Given the description of an element on the screen output the (x, y) to click on. 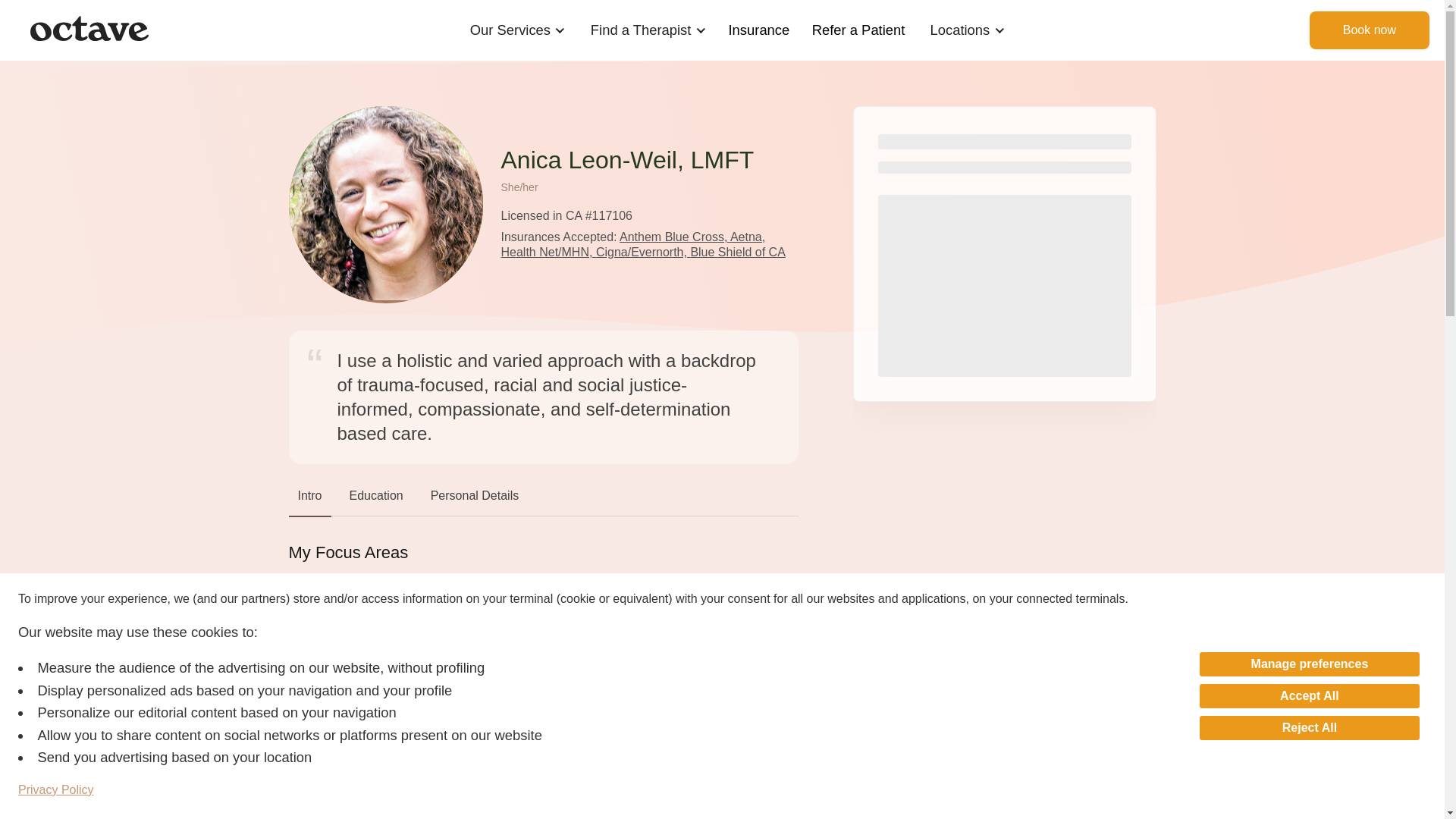
Women's Issues (339, 632)
Blue Shield of CA (737, 251)
Manage preferences (1309, 664)
Locations (959, 29)
Panic, (387, 609)
Reject All (1309, 727)
Intro (309, 499)
Aetna, (747, 236)
Our Services (509, 29)
Personal Details (475, 498)
